Given the description of an element on the screen output the (x, y) to click on. 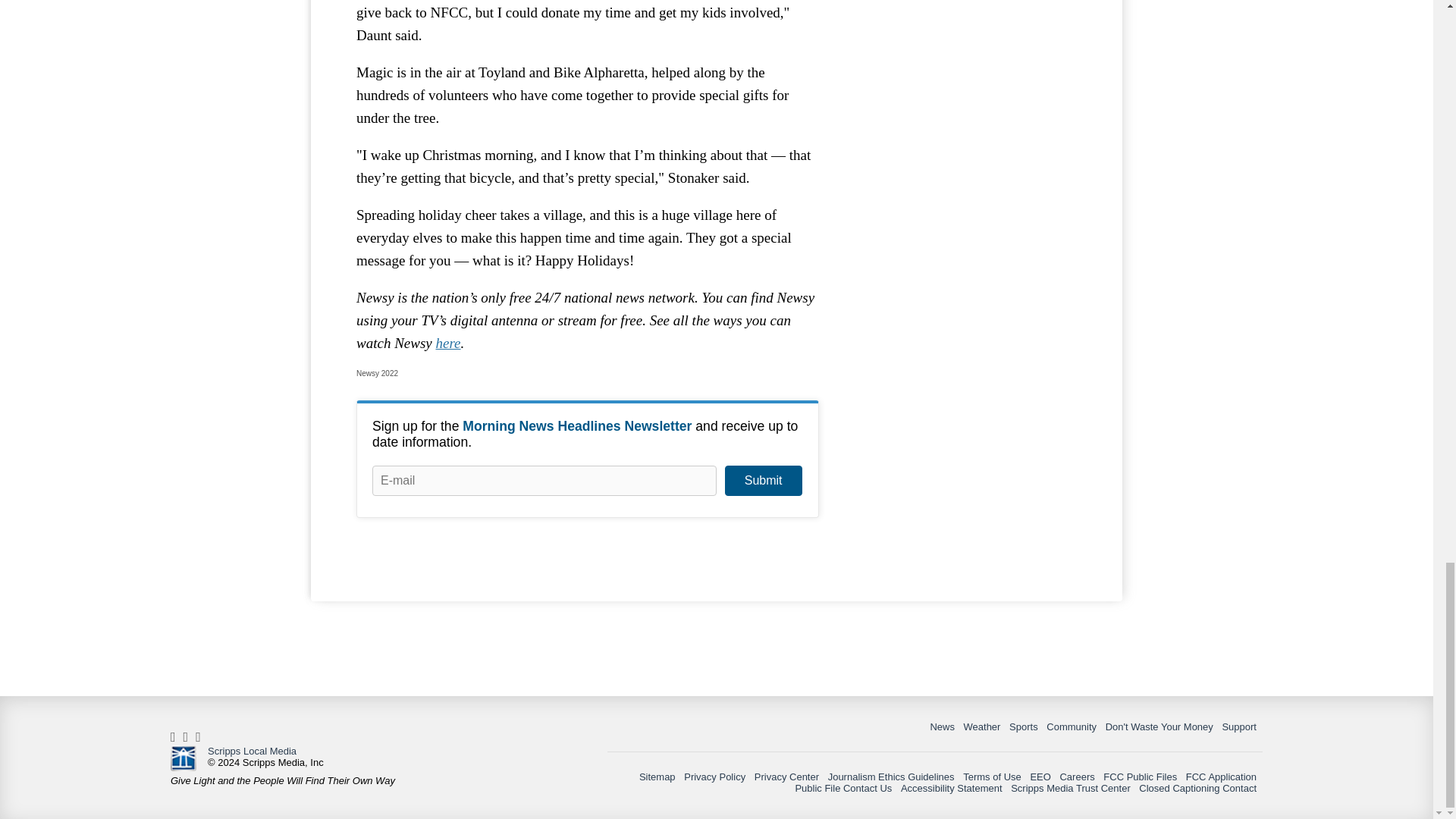
Submit (763, 481)
